Given the description of an element on the screen output the (x, y) to click on. 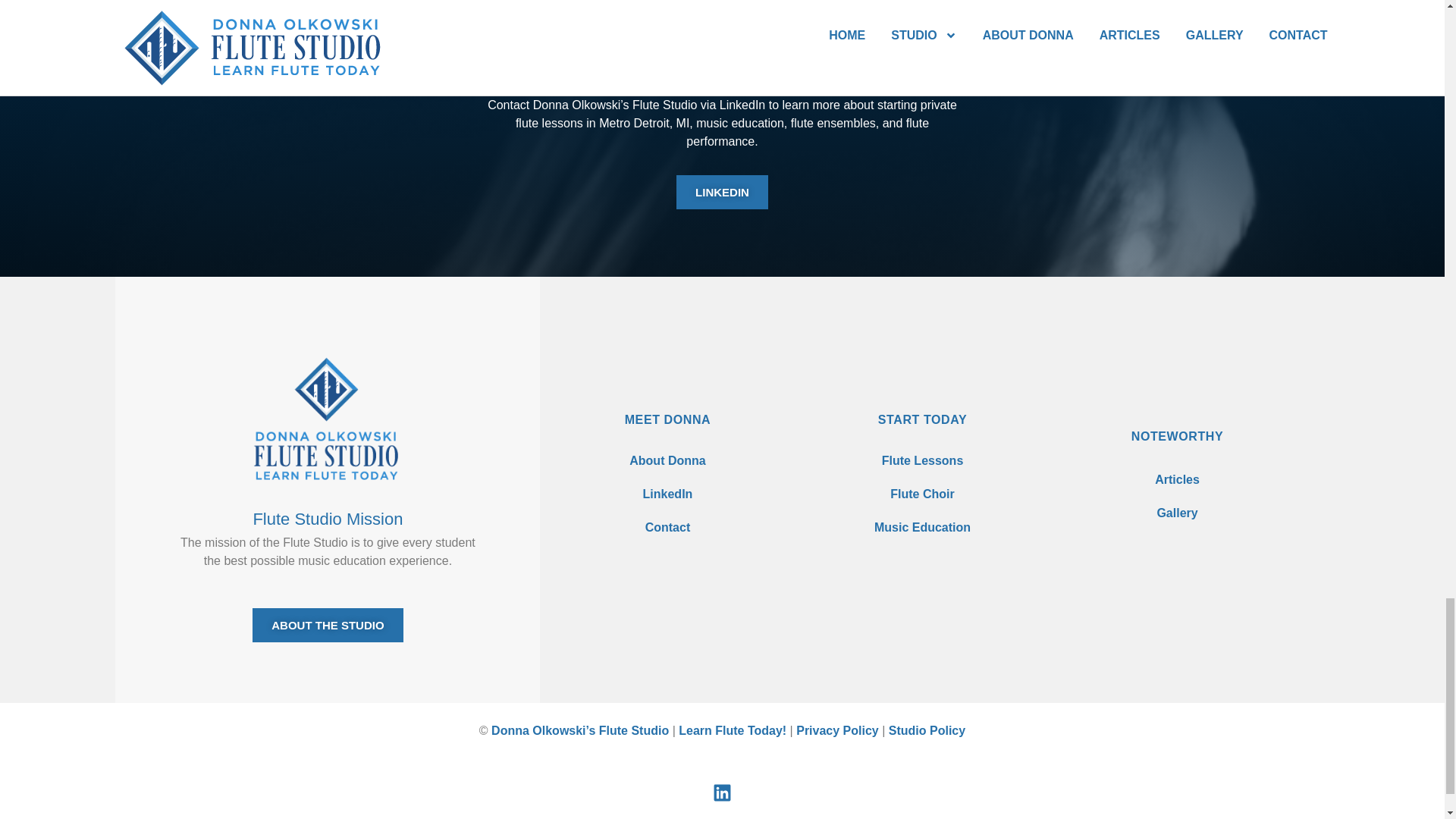
Connect on LinkedIn (667, 494)
About Donna Olkowski (667, 460)
